Given the description of an element on the screen output the (x, y) to click on. 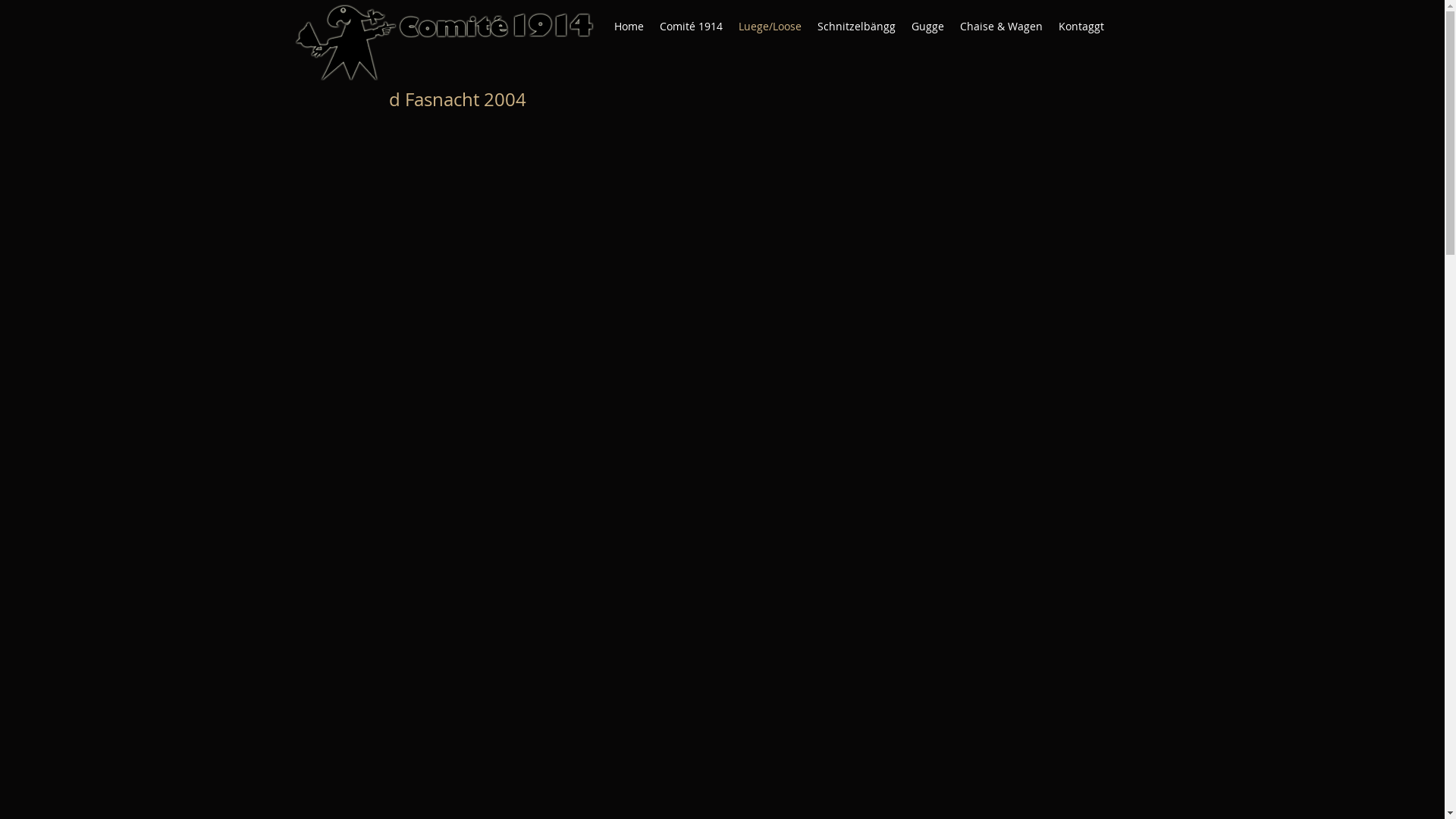
Luege/Loose Element type: text (770, 26)
External YouTube Element type: hover (935, 580)
External YouTube Element type: hover (543, 270)
Gugge Element type: text (927, 26)
External YouTube Element type: hover (543, 580)
Chaise & Wagen Element type: text (1001, 26)
External YouTube Element type: hover (935, 270)
Kontaggt Element type: text (1081, 26)
Home Element type: text (628, 26)
